Given the description of an element on the screen output the (x, y) to click on. 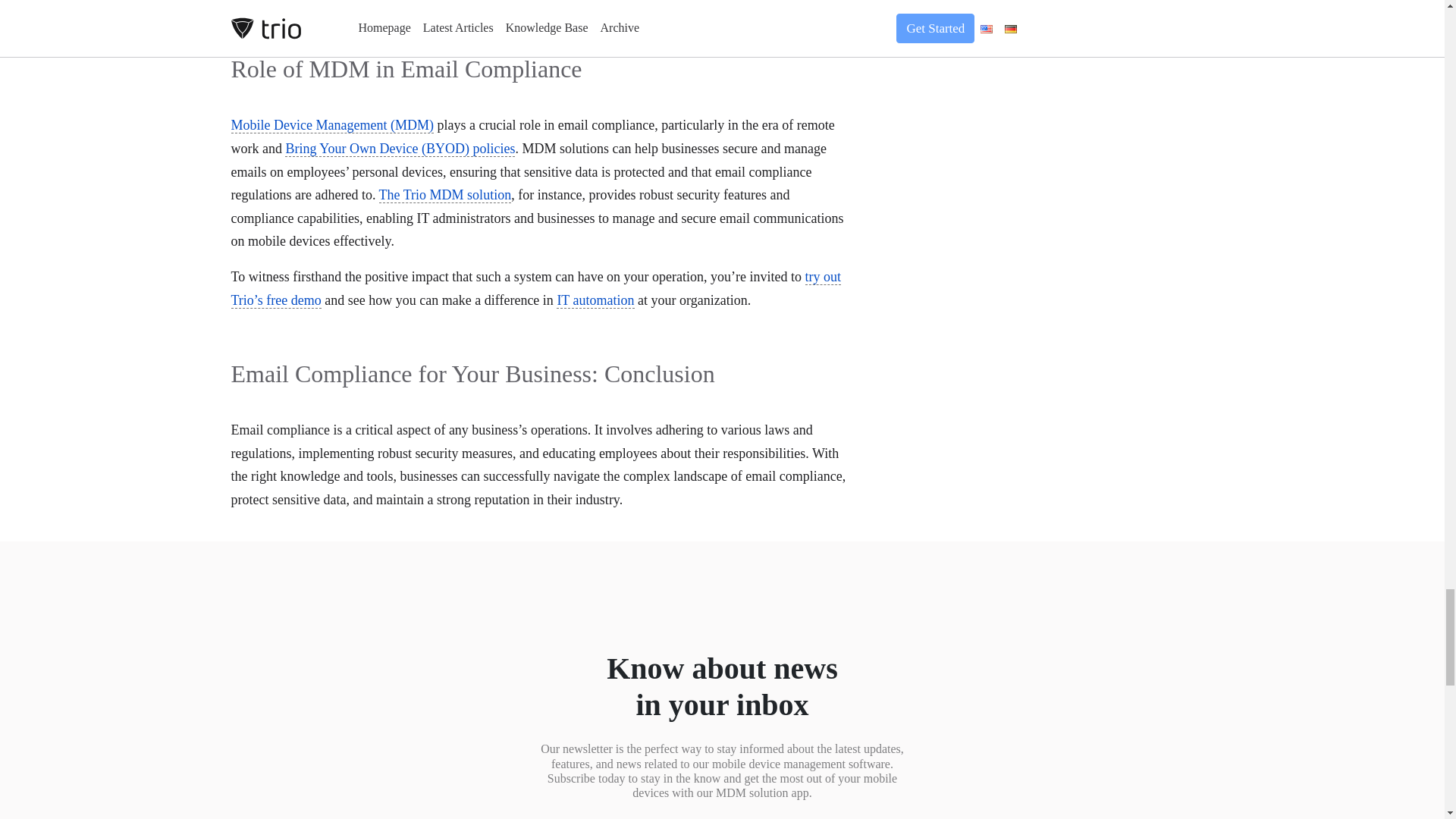
IT automation (594, 300)
The Trio MDM solution (445, 195)
